Given the description of an element on the screen output the (x, y) to click on. 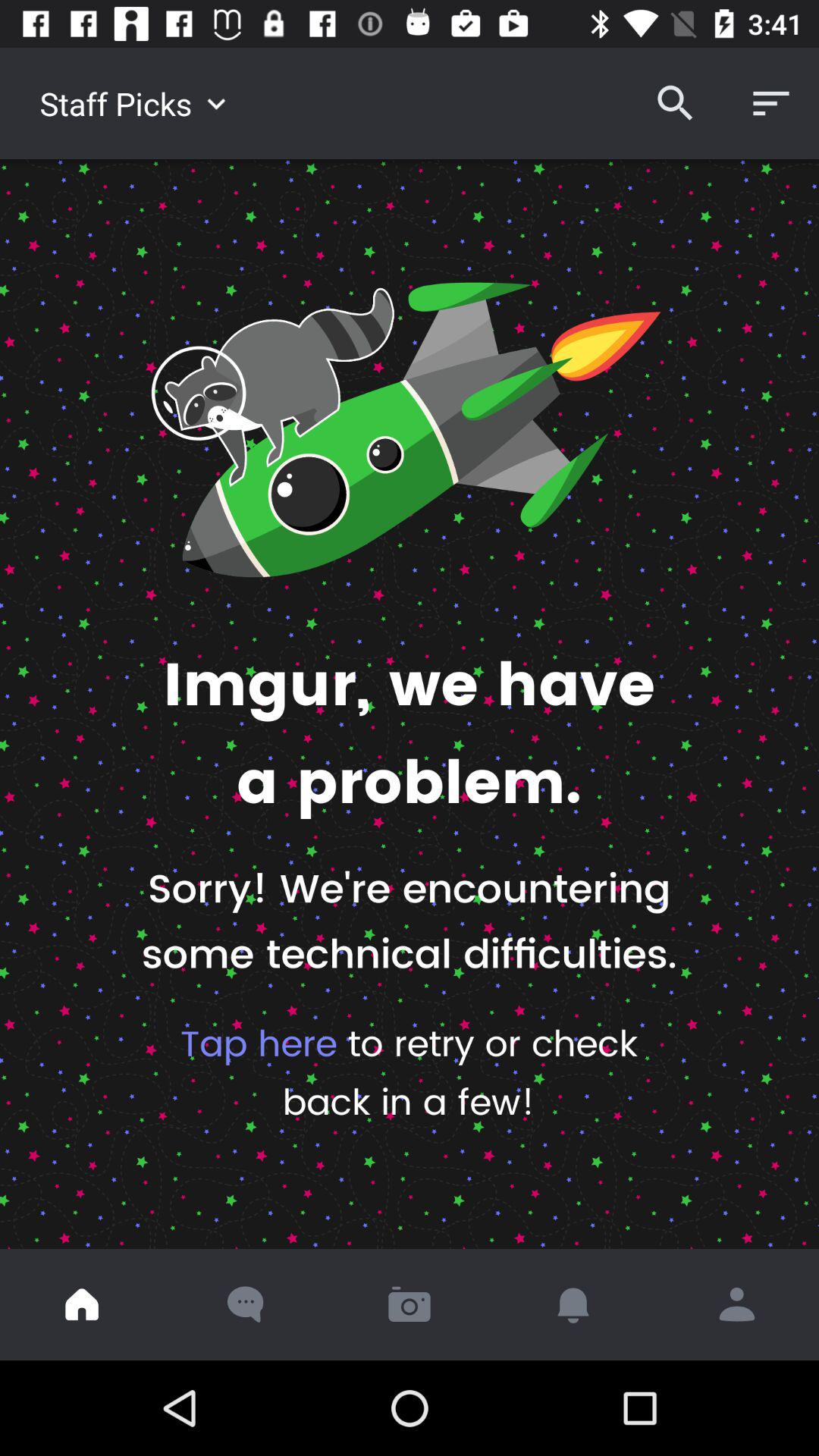
open camera (409, 1304)
